Given the description of an element on the screen output the (x, y) to click on. 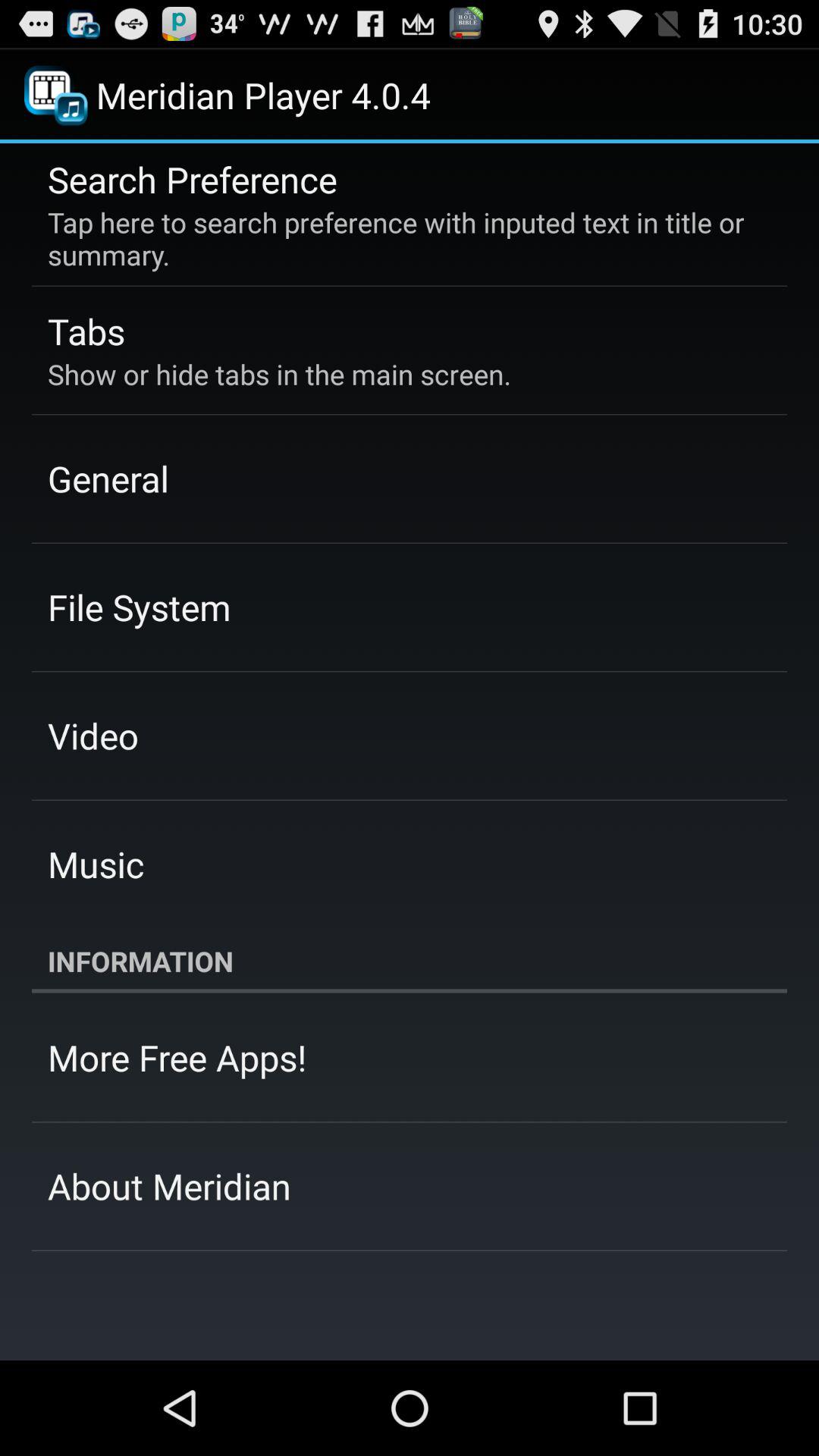
turn on the icon above the information icon (95, 864)
